Given the description of an element on the screen output the (x, y) to click on. 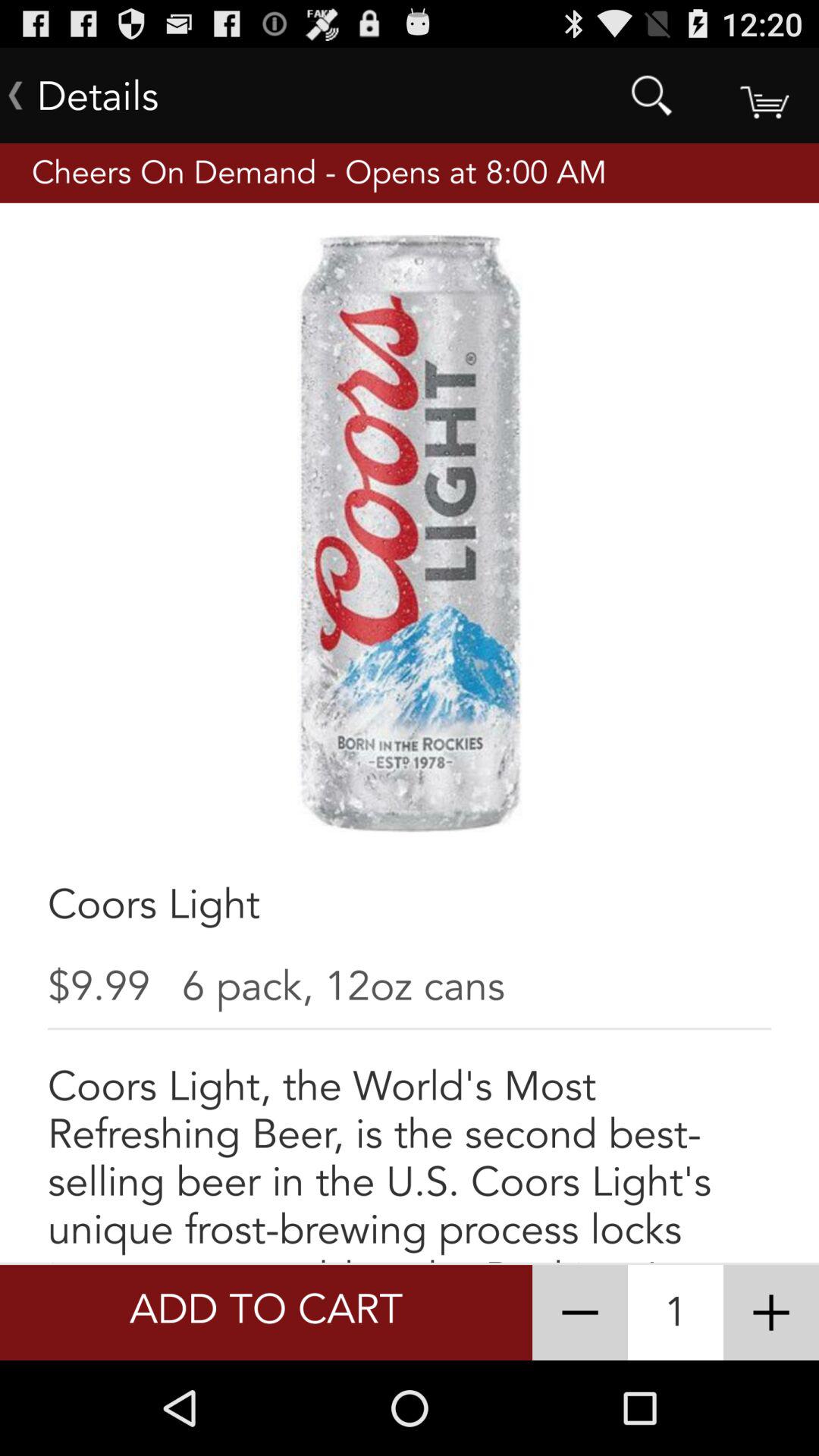
shopping cart add to cart (763, 95)
